Given the description of an element on the screen output the (x, y) to click on. 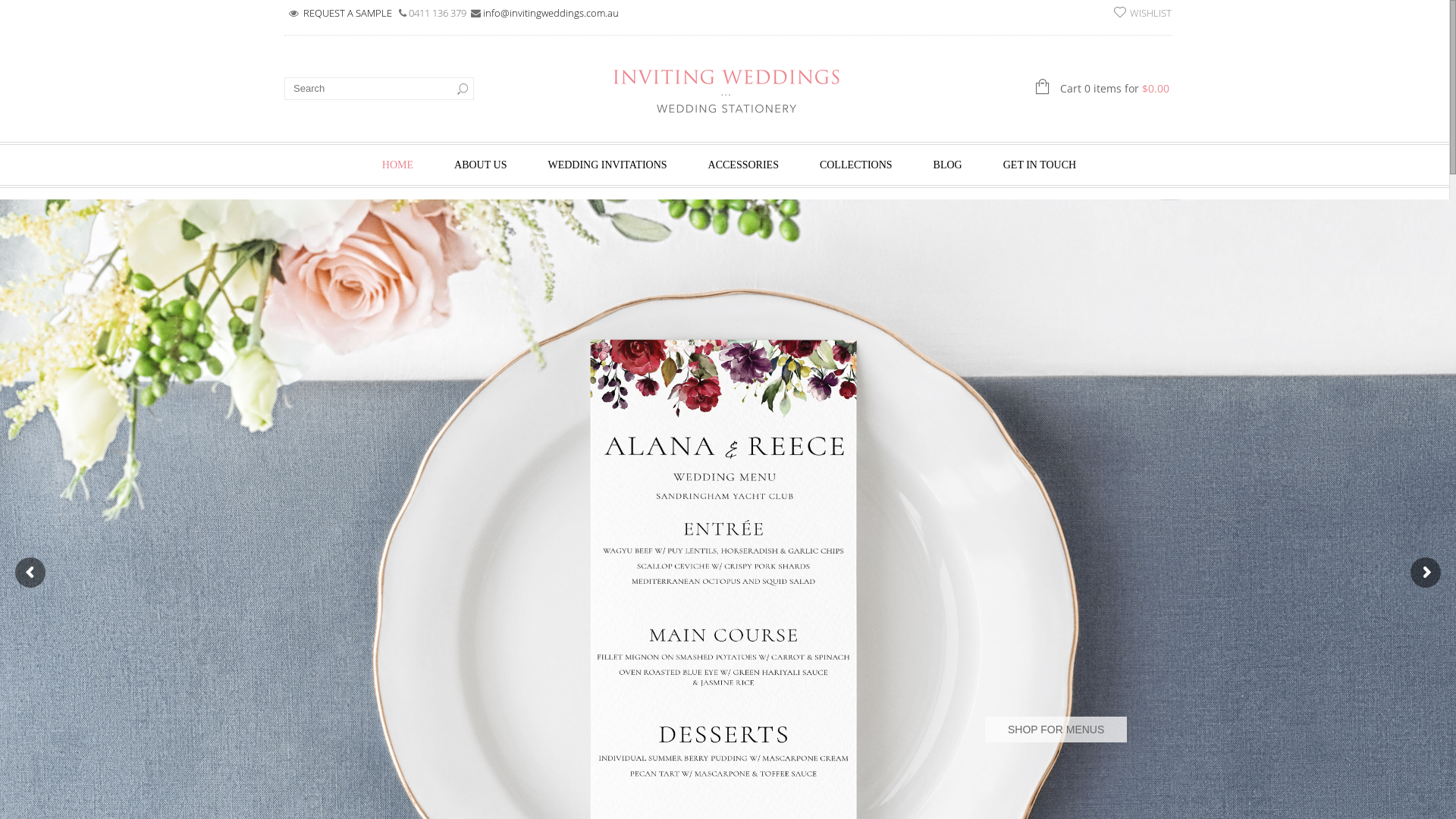
WISHLIST Element type: text (1142, 11)
REQUEST A SAMPLE Element type: text (348, 12)
GET IN TOUCH Element type: text (1039, 164)
BLOG Element type: text (947, 164)
HOME Element type: text (397, 164)
COLLECTIONS Element type: text (855, 164)
Cart 0 items for $0.00 Element type: text (1046, 87)
info@invitingweddings.com.au Element type: text (550, 12)
Go Element type: text (462, 88)
WEDDING INVITATIONS Element type: text (606, 164)
ABOUT US Element type: text (480, 164)
ACCESSORIES Element type: text (743, 164)
